Given the description of an element on the screen output the (x, y) to click on. 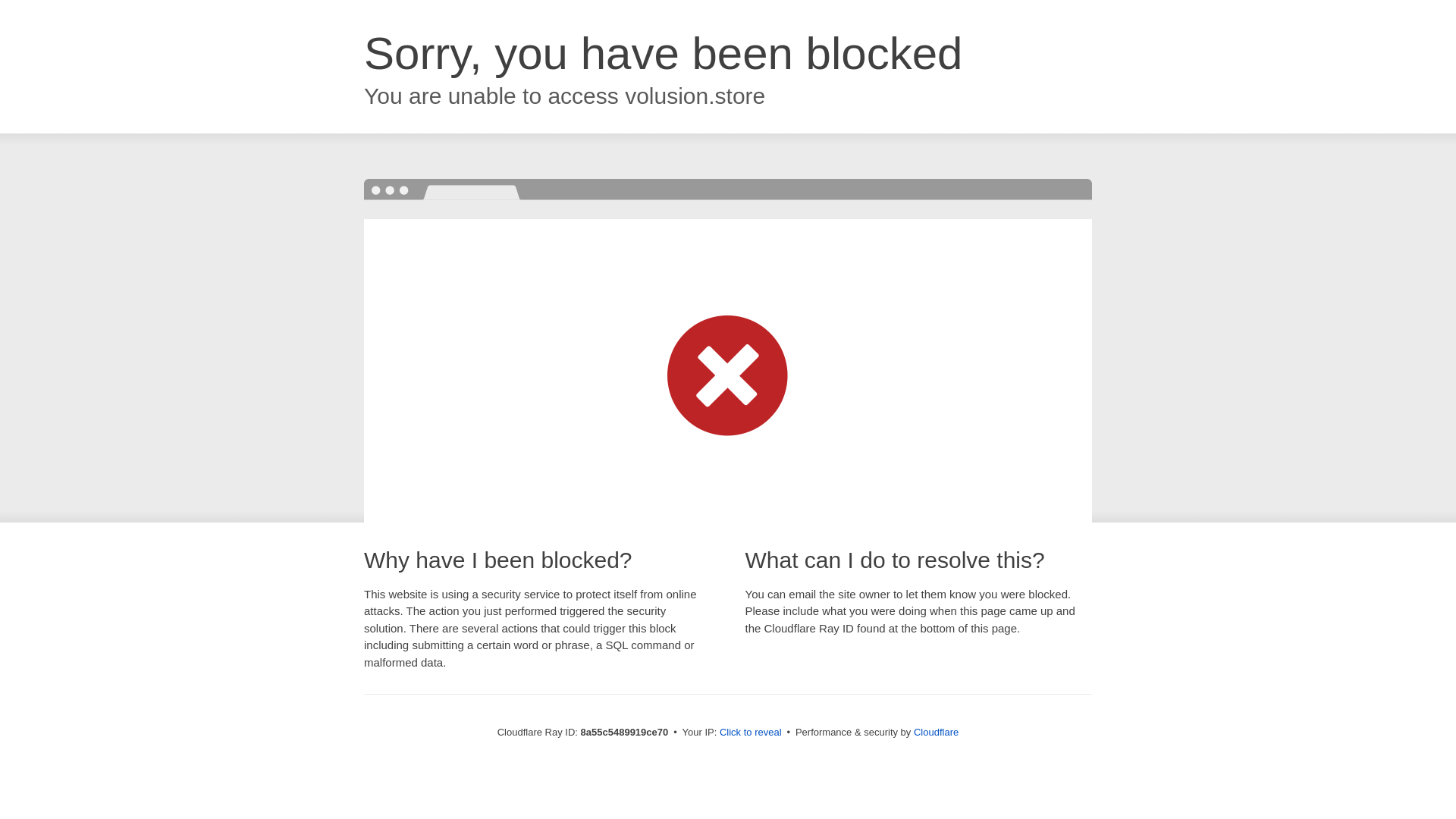
Click to reveal (750, 732)
Cloudflare (936, 731)
